Given the description of an element on the screen output the (x, y) to click on. 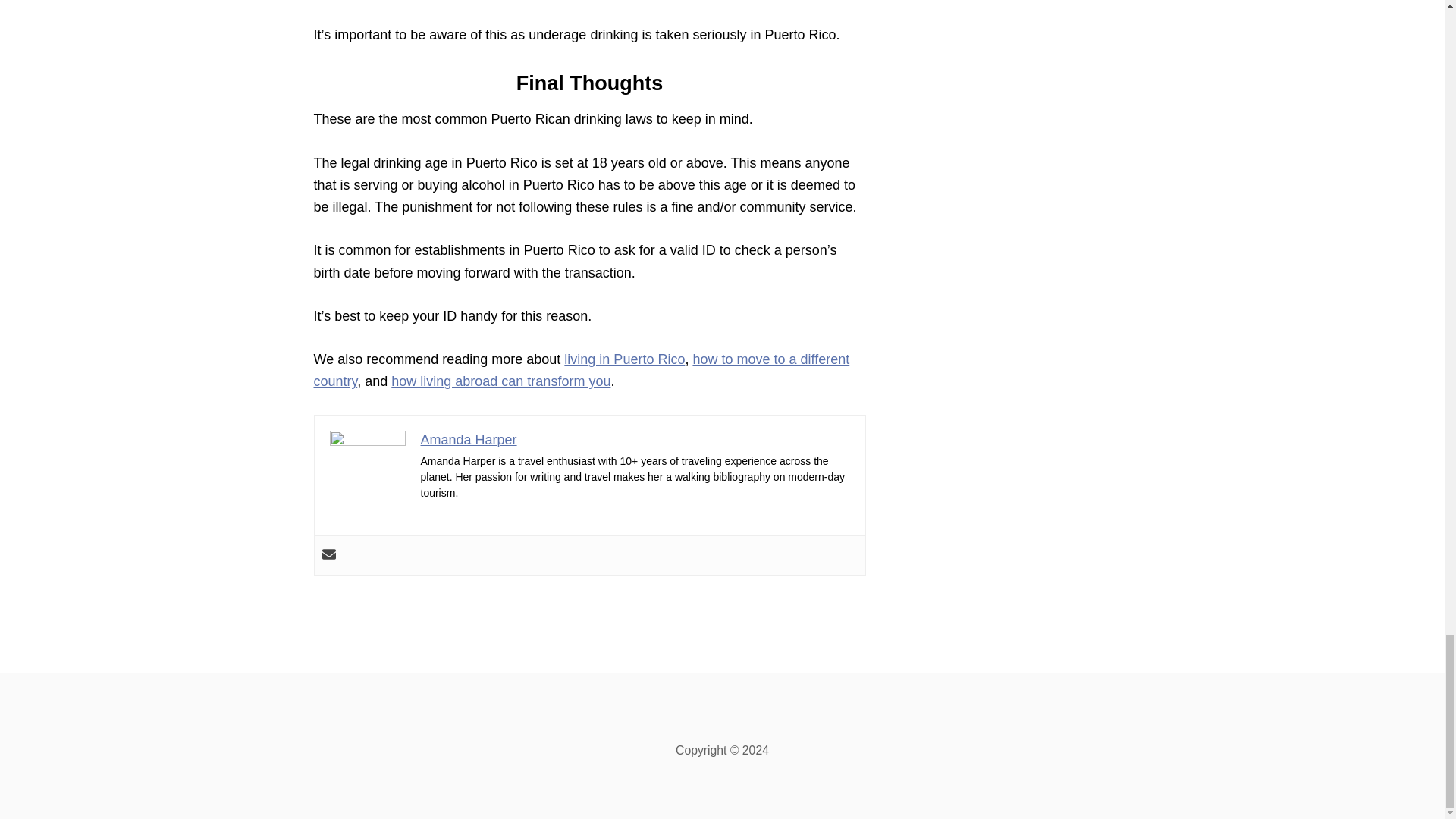
Amanda Harper (468, 438)
living in Puerto Rico (624, 359)
how living abroad can transform you (500, 381)
how to move to a different country (582, 370)
